Given the description of an element on the screen output the (x, y) to click on. 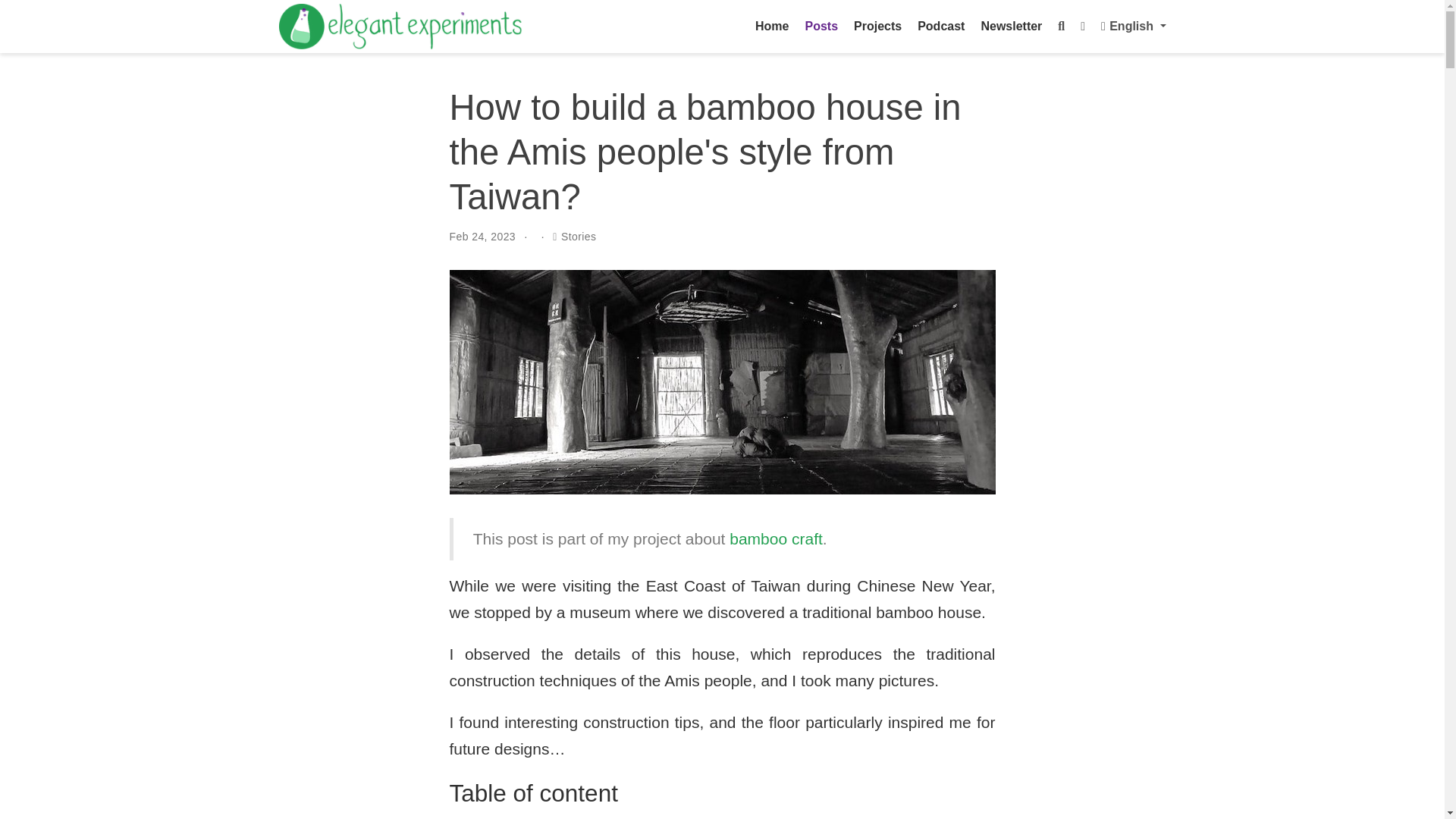
Stories (578, 236)
Posts (820, 25)
English (1133, 26)
Podcast (941, 25)
bamboo craft (775, 538)
Projects (877, 25)
Home (772, 25)
Newsletter (1010, 25)
